Given the description of an element on the screen output the (x, y) to click on. 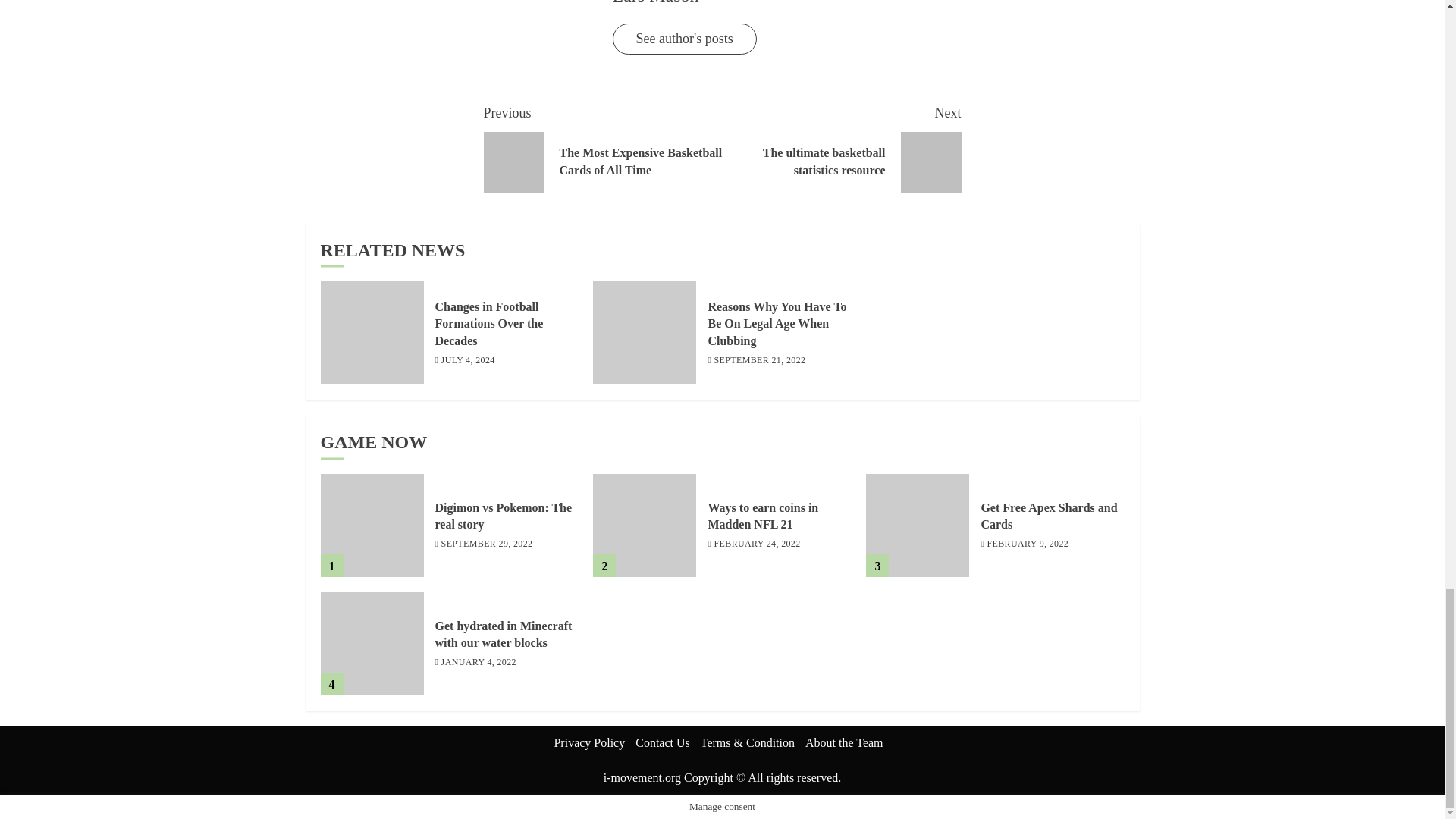
Get Free Apex Shards and Cards (1047, 516)
Changes in Football Formations Over the Decades (371, 332)
About the Team (844, 742)
Ways to earn coins in Madden NFL 21 (762, 516)
Reasons Why You Have To Be On Legal Age When Clubbing (643, 332)
Ways to earn coins in Madden NFL 21 (643, 525)
Get hydrated in Minecraft with our water blocks (371, 643)
See author's posts (684, 38)
Reasons Why You Have To Be On Legal Age When Clubbing (776, 324)
Get Free Apex Shards and Cards (917, 525)
Privacy Policy (588, 742)
Digimon vs Pokemon: The real story (371, 525)
Digimon vs Pokemon: The real story (841, 147)
